Given the description of an element on the screen output the (x, y) to click on. 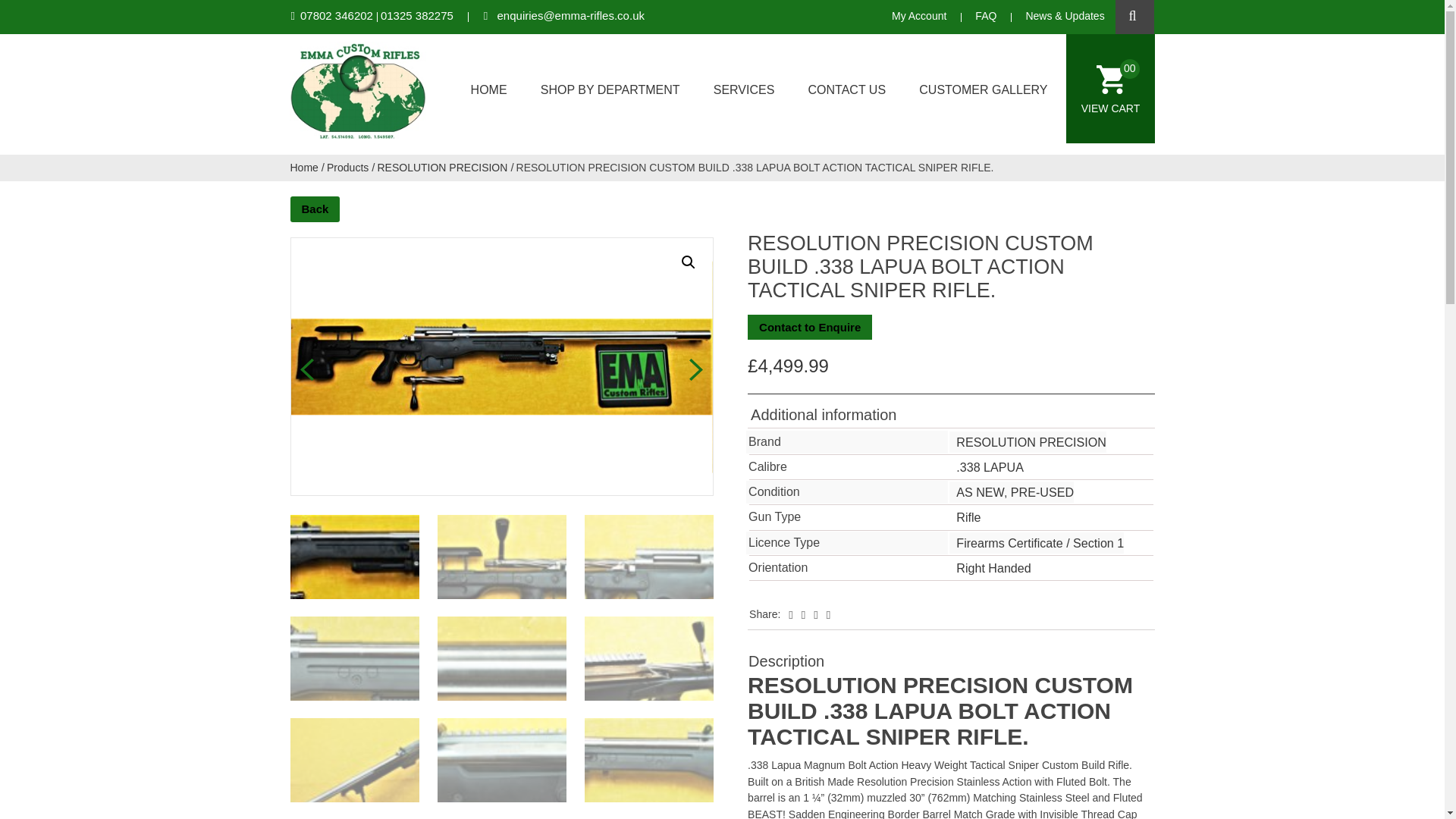
SHOP BY DEPARTMENT (611, 88)
FAQ (985, 15)
Go to the RESOLUTION PRECISION Brand archives. (442, 166)
Go to Products. (347, 166)
My Account (918, 15)
01325 382275 (422, 15)
07802 346202 (336, 15)
Go to Emma Custom Rifles. (303, 166)
